Given the description of an element on the screen output the (x, y) to click on. 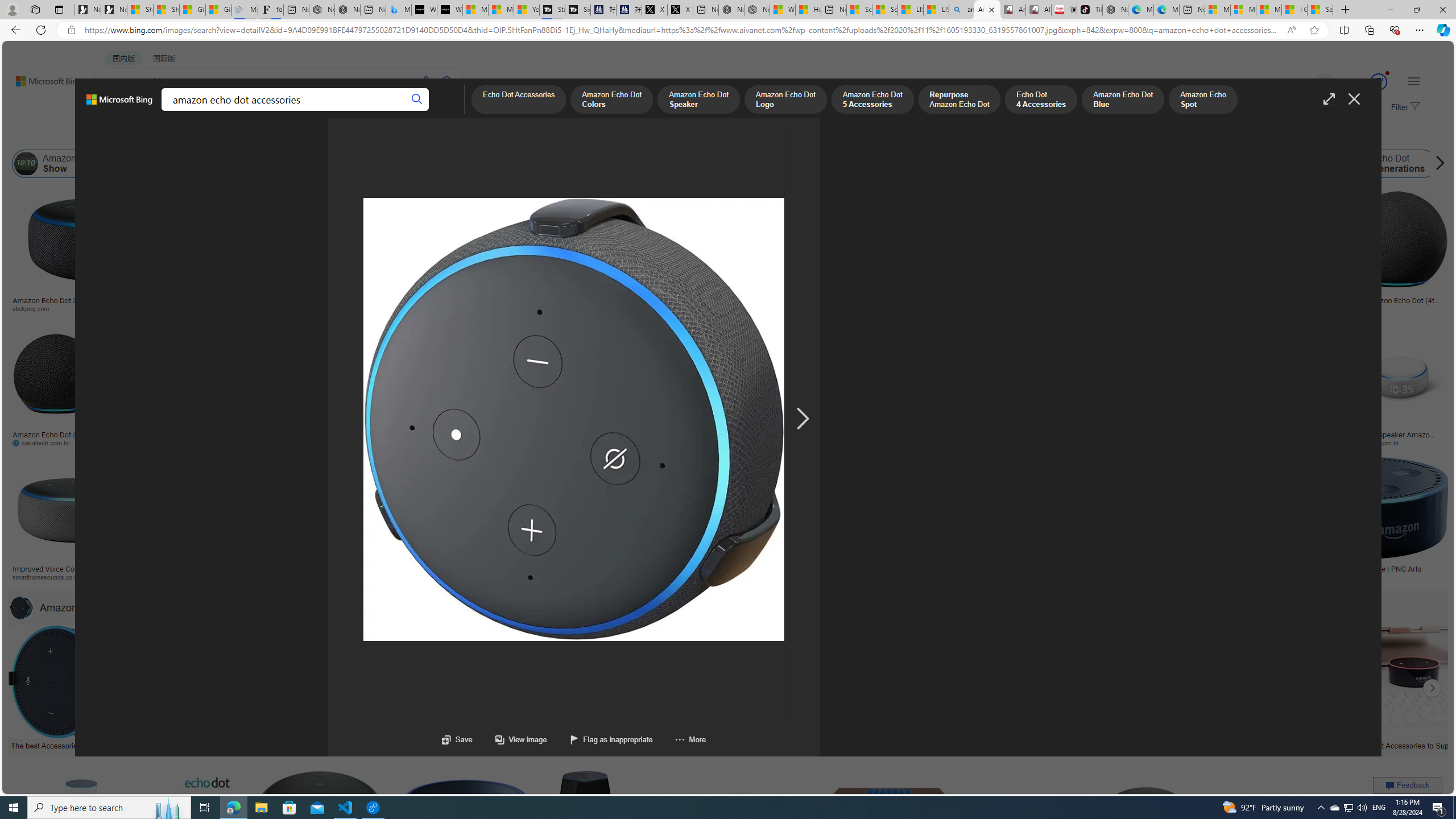
More (690, 739)
currys.co.uk (1046, 576)
currys.co.uk (1070, 576)
mediamarkt.de (537, 576)
Filter (1403, 107)
Echo Dot Generations (1388, 163)
avenidatecnologica.com (1243, 442)
Microsoft Start (1268, 9)
canaltech.com.br (45, 442)
pngarts.com (1311, 576)
